Given the description of an element on the screen output the (x, y) to click on. 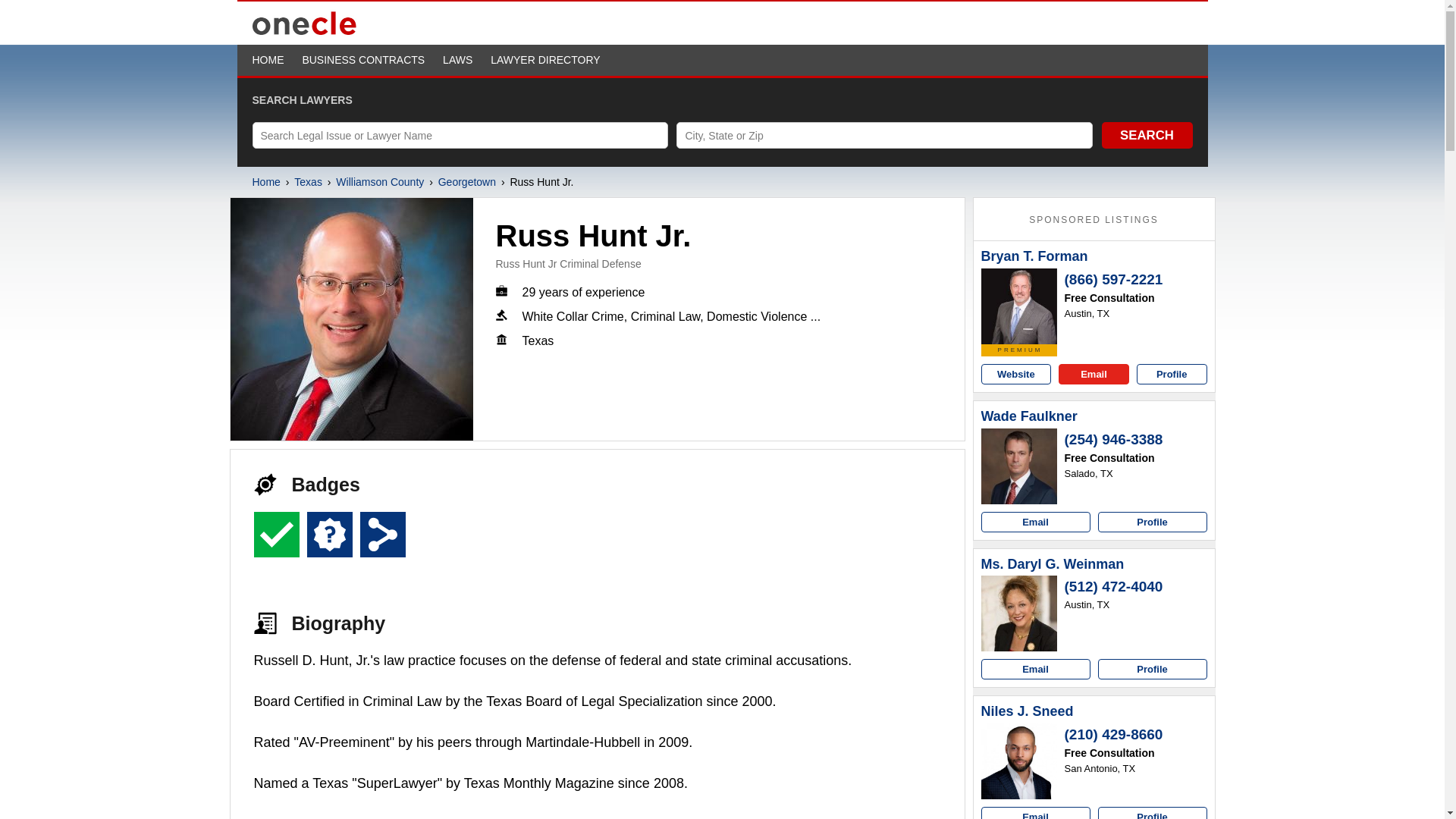
LAWYER DIRECTORY (544, 60)
Profile (1172, 373)
Search Legal Issue or Lawyer Name (459, 135)
Home (265, 181)
LAWS (456, 60)
OneCLE Lawyer Directory (304, 33)
HOME (267, 60)
Website (1016, 373)
Russ Hunt Jr. (351, 319)
Wade Faulkner (1029, 416)
Williamson County (379, 181)
Georgetown (467, 181)
Texas (307, 181)
BUSINESS CONTRACTS (363, 60)
SPONSORED LISTINGS (1093, 219)
